Given the description of an element on the screen output the (x, y) to click on. 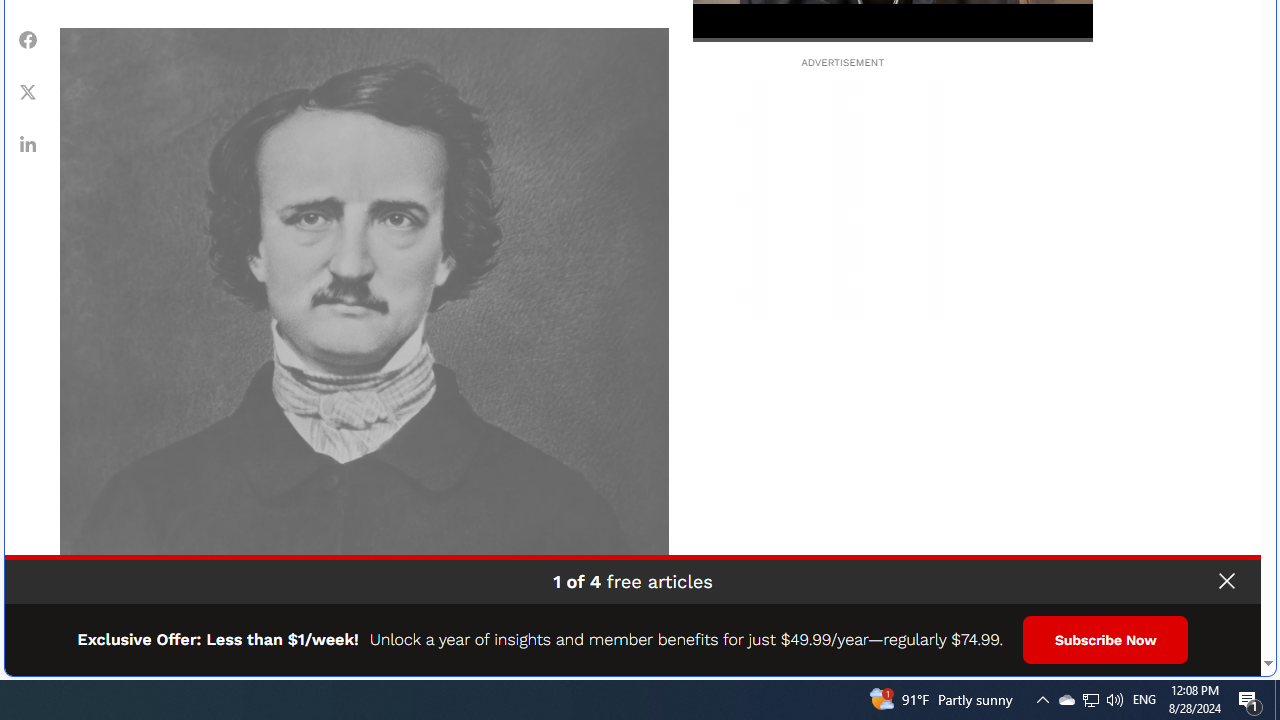
Share Facebook (28, 39)
Class: article-sharing__item (28, 143)
Share Twitter (28, 91)
Share Linkedin (28, 143)
Seek (892, 38)
Terms (1242, 653)
Class: fs-icon fs-icon--linkedin (28, 143)
Class: close-button unbutton (1226, 581)
Class: fs-icon fs-icon--Facebook (27, 39)
Class: fs-icon fs-icon--xCorp (28, 91)
Subscribe Now (1105, 639)
Portrait of Edgar Allan Poe. (364, 332)
